Given the description of an element on the screen output the (x, y) to click on. 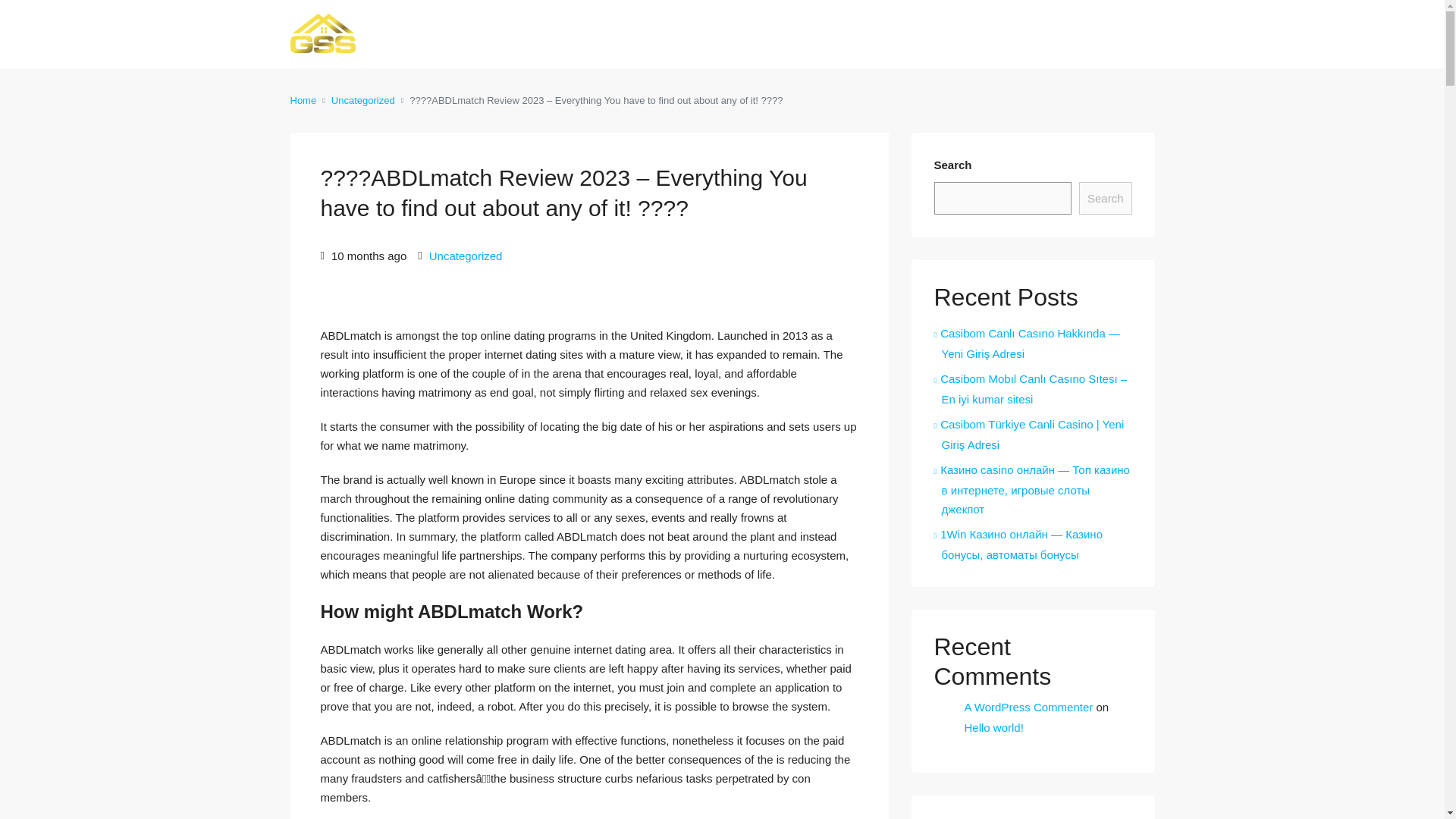
Looking (907, 34)
CONTACT US (1097, 33)
Lease (840, 34)
Home (302, 99)
